Given the description of an element on the screen output the (x, y) to click on. 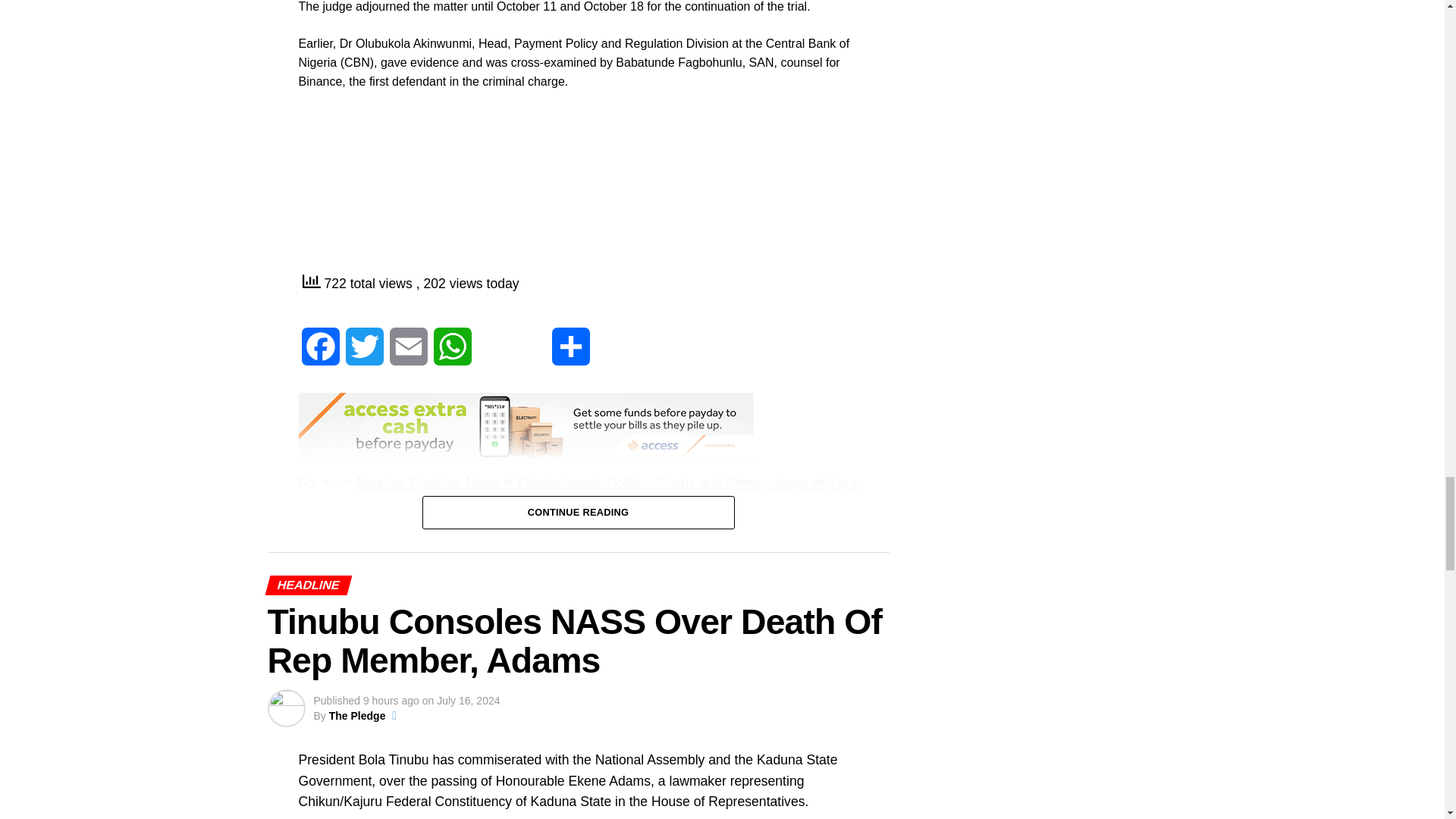
Email (408, 353)
WhatsApp (452, 353)
Facebook (320, 353)
Twitter (364, 353)
Posts by The Pledge (357, 715)
